Given the description of an element on the screen output the (x, y) to click on. 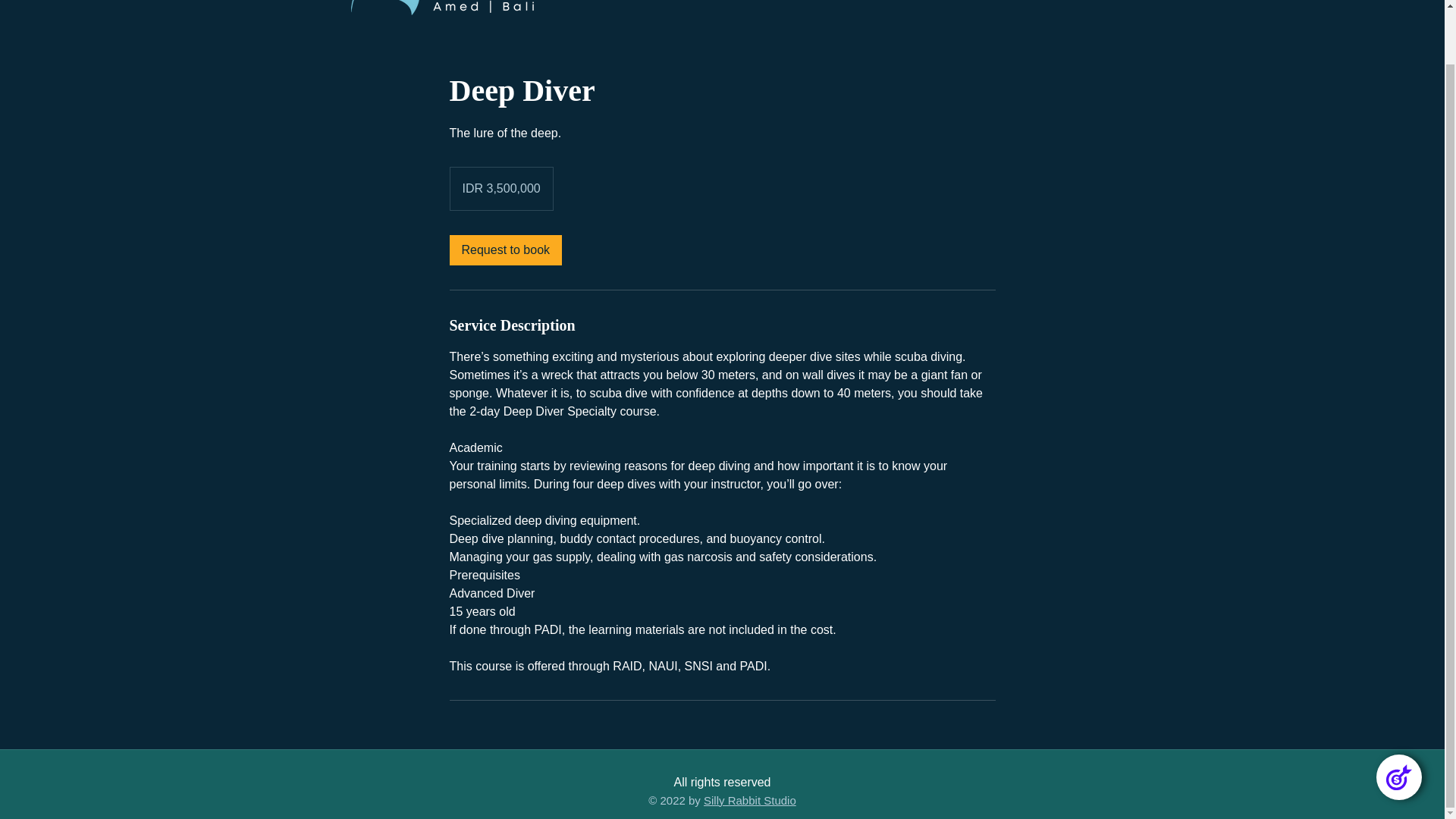
Silly Rabbit Studio (749, 799)
Request to book (505, 250)
